Given the description of an element on the screen output the (x, y) to click on. 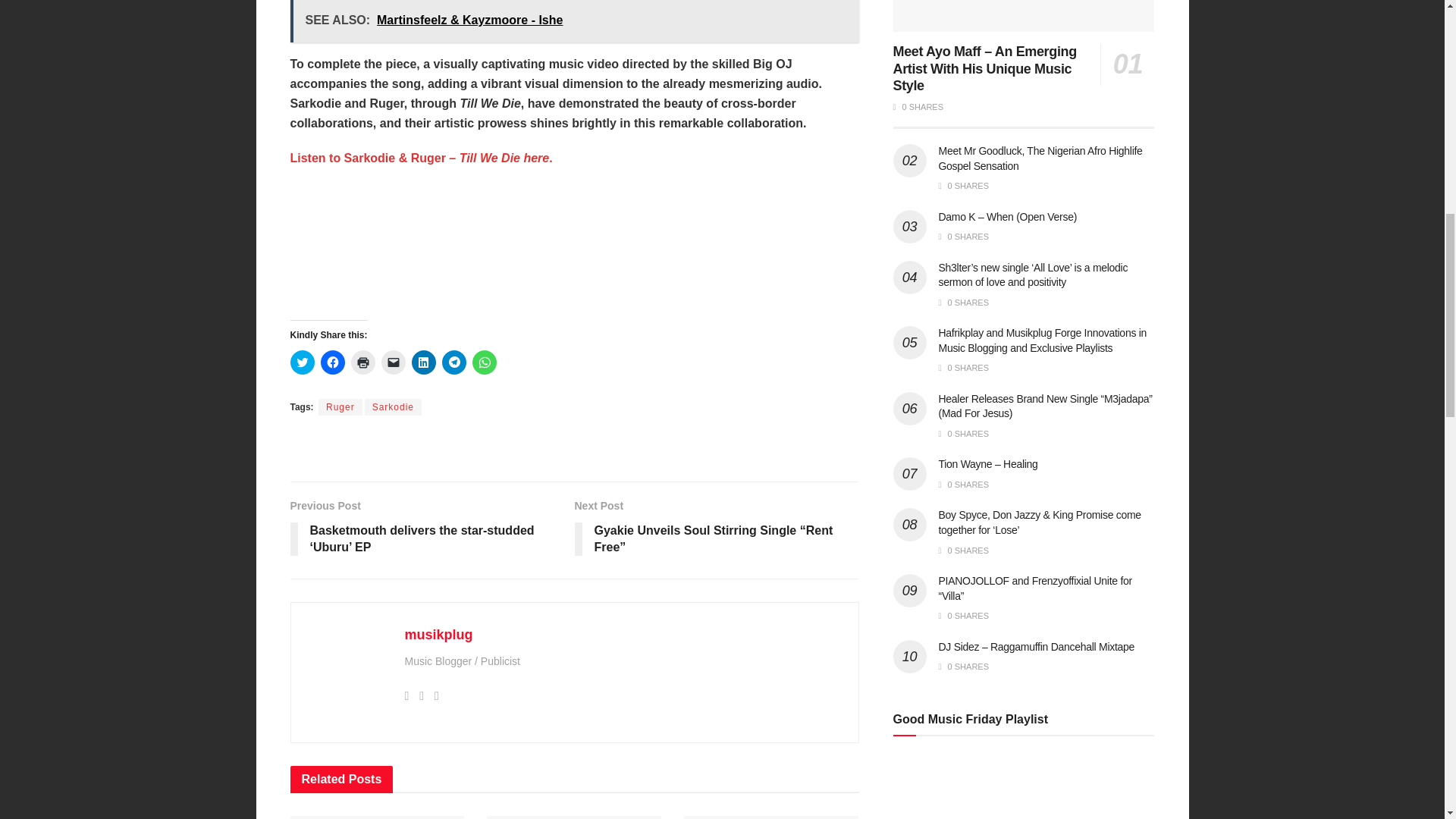
Click to email a link to a friend (392, 362)
Click to share on Telegram (453, 362)
Click to share on Twitter (301, 362)
Click to share on Facebook (331, 362)
Click to share on LinkedIn (422, 362)
Click to print (362, 362)
Click to share on WhatsApp (483, 362)
